Given the description of an element on the screen output the (x, y) to click on. 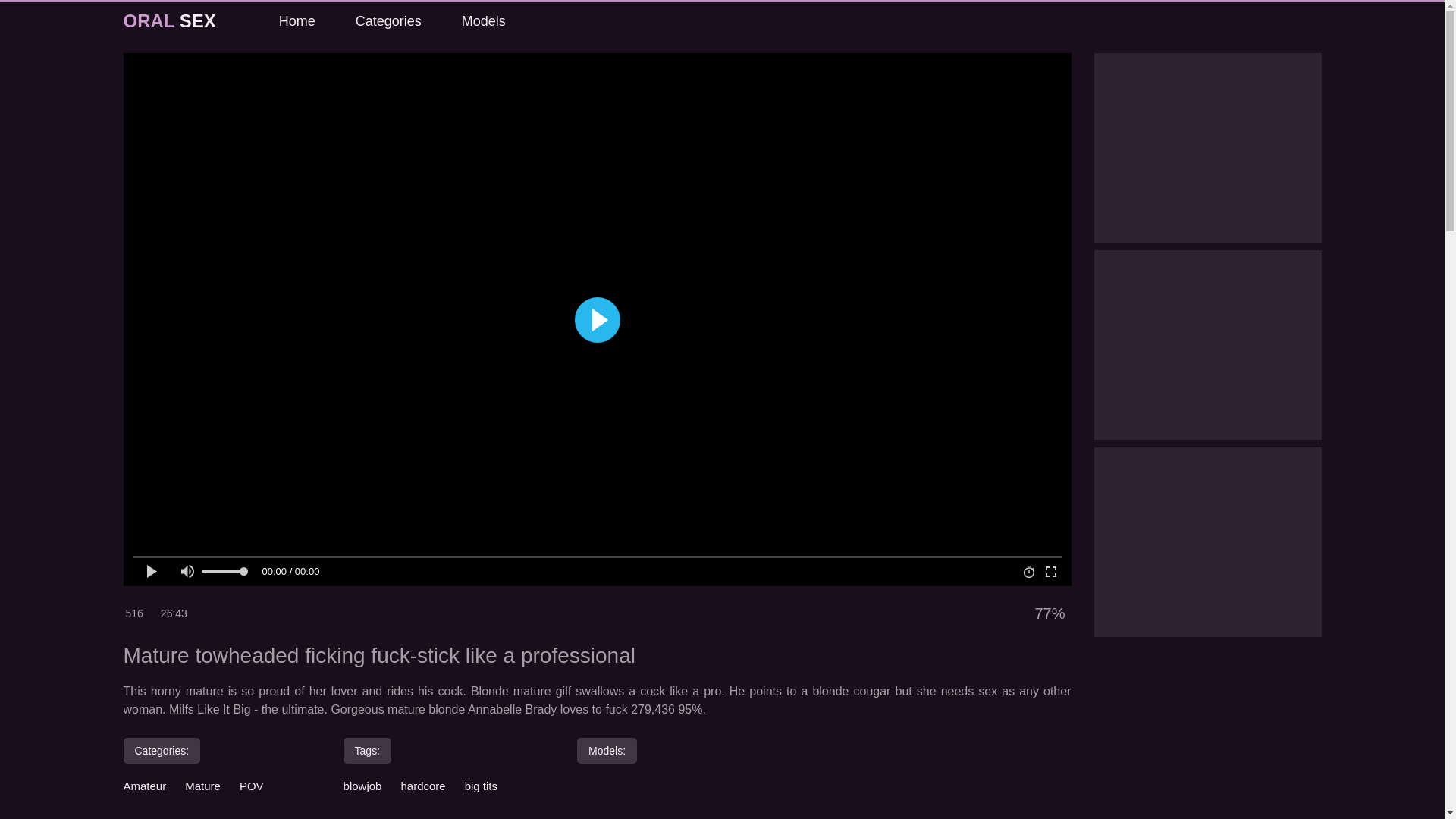
big tits (480, 785)
POV (251, 785)
hardcore (422, 785)
Home (295, 21)
ORAL SEX (168, 21)
Mature (202, 785)
Categories (387, 21)
Models (482, 21)
Amateur (143, 785)
blowjob (362, 785)
